Given the description of an element on the screen output the (x, y) to click on. 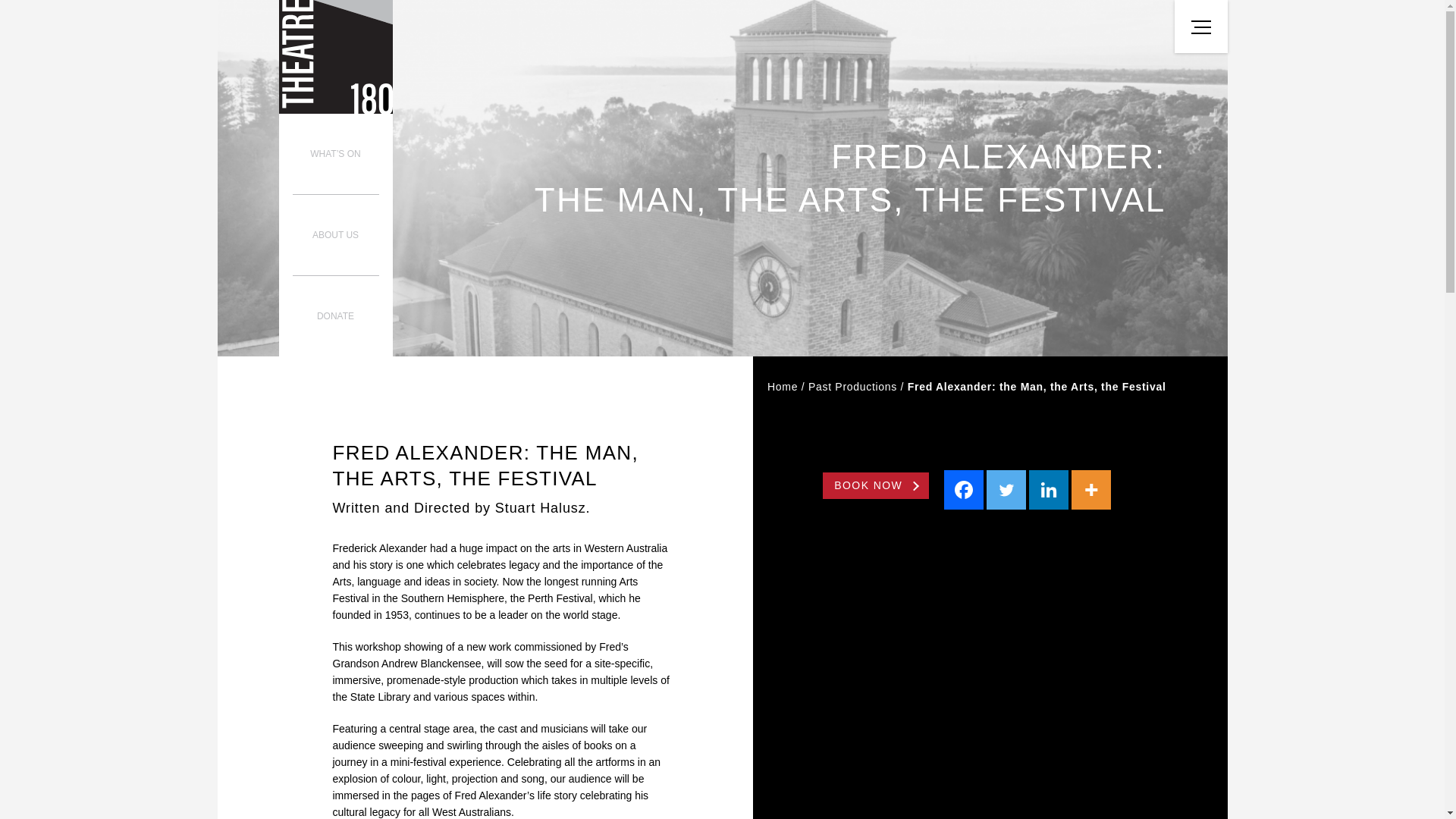
More (1089, 489)
Linkedin (1047, 489)
BOOK NOW (875, 485)
DONATE (335, 316)
Go to the Past Productions Show Category archives. (852, 386)
Past Productions (852, 386)
Facebook (962, 489)
Home (782, 386)
ABOUT US (335, 234)
Twitter (1005, 489)
